Given the description of an element on the screen output the (x, y) to click on. 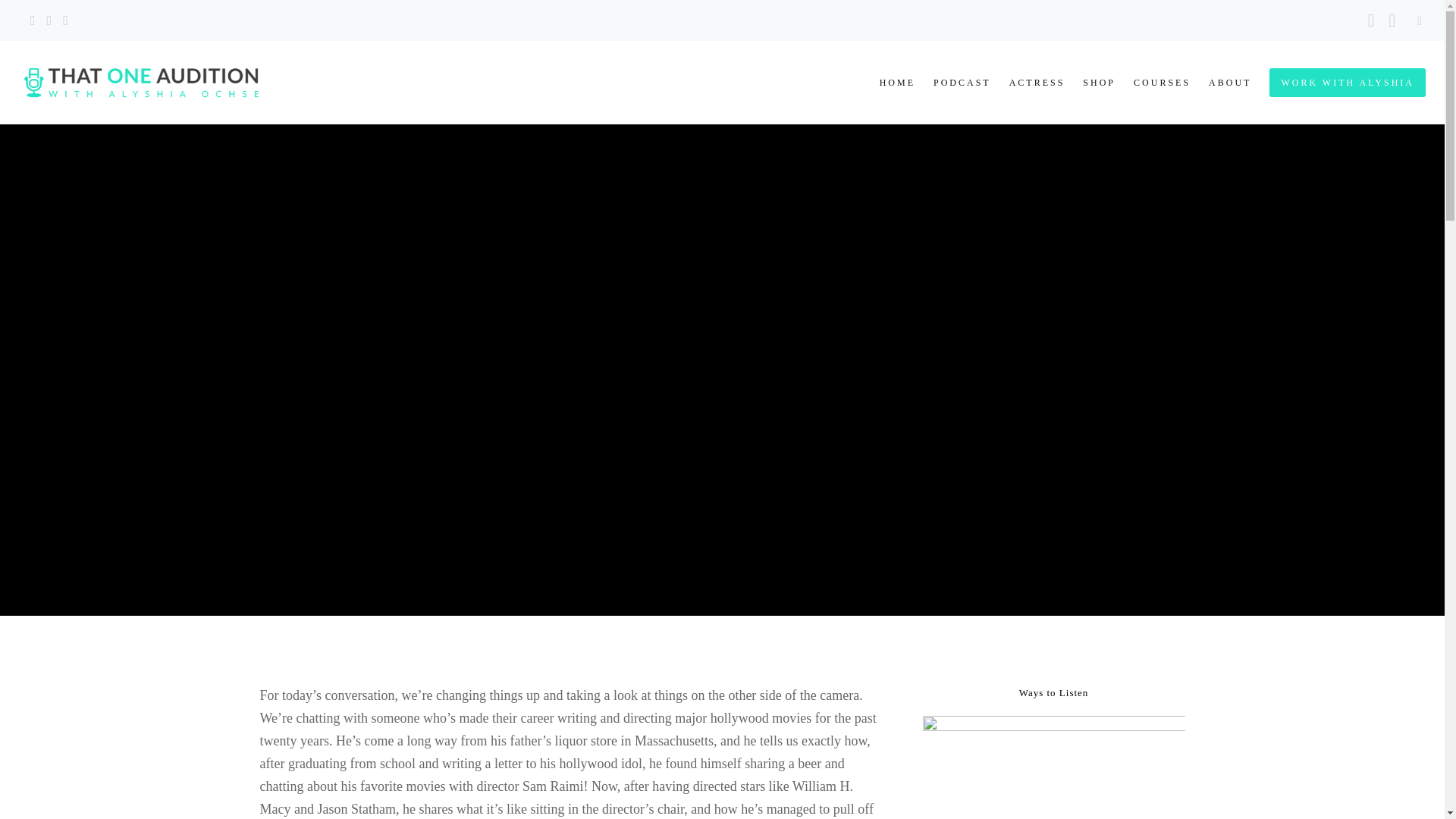
COURSES (1153, 82)
WORK WITH ALYSHIA (1337, 82)
ACTRESS (1028, 82)
PODCAST (953, 82)
